Given the description of an element on the screen output the (x, y) to click on. 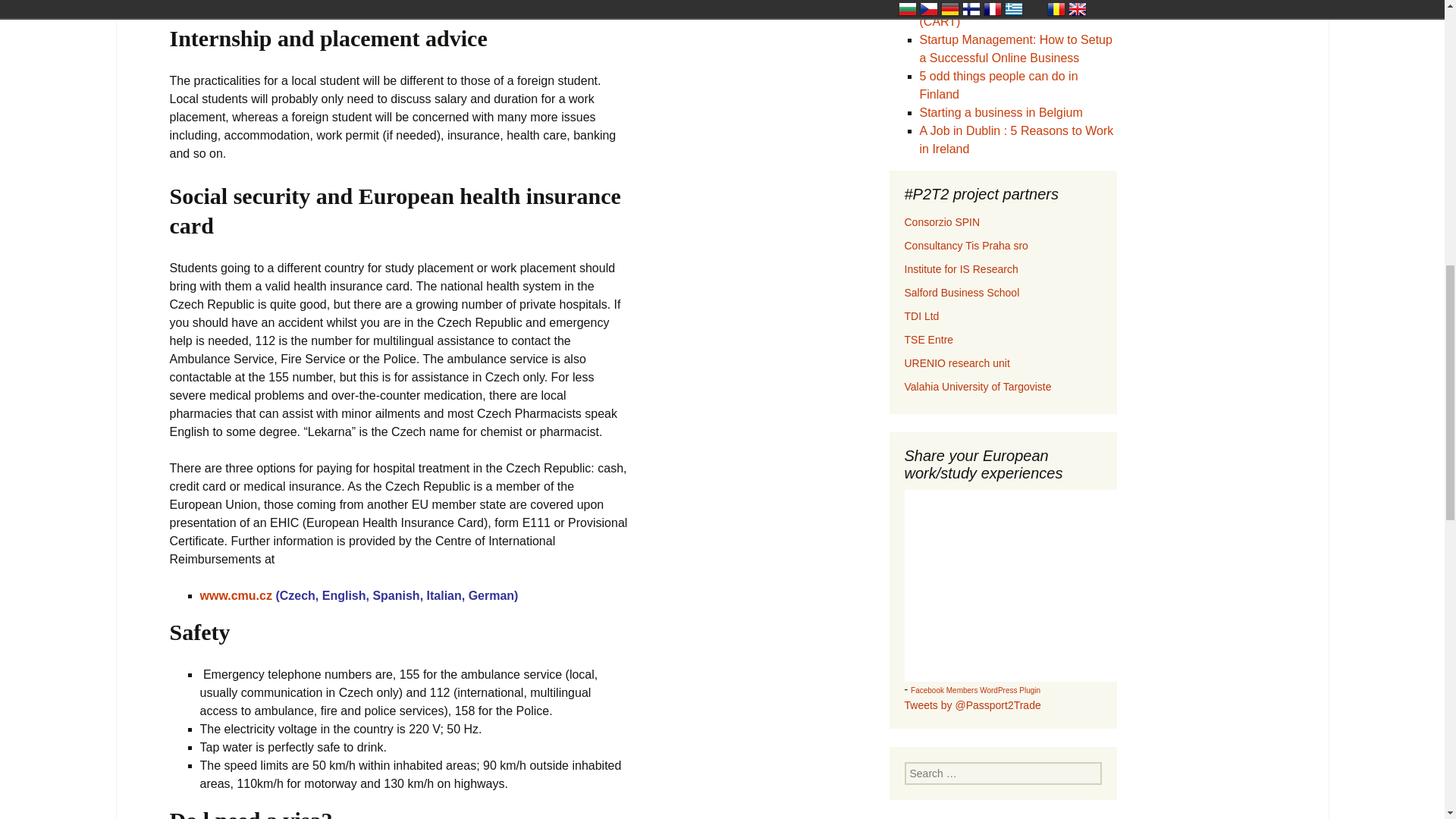
SPIN (941, 222)
Look 5 odd things people can do in Finland (997, 84)
Look A Job in Dublin : 5 Reasons to Work in Ireland (1015, 139)
TIS Praha (965, 245)
Look Starting a business in Belgium (999, 112)
